Given the description of an element on the screen output the (x, y) to click on. 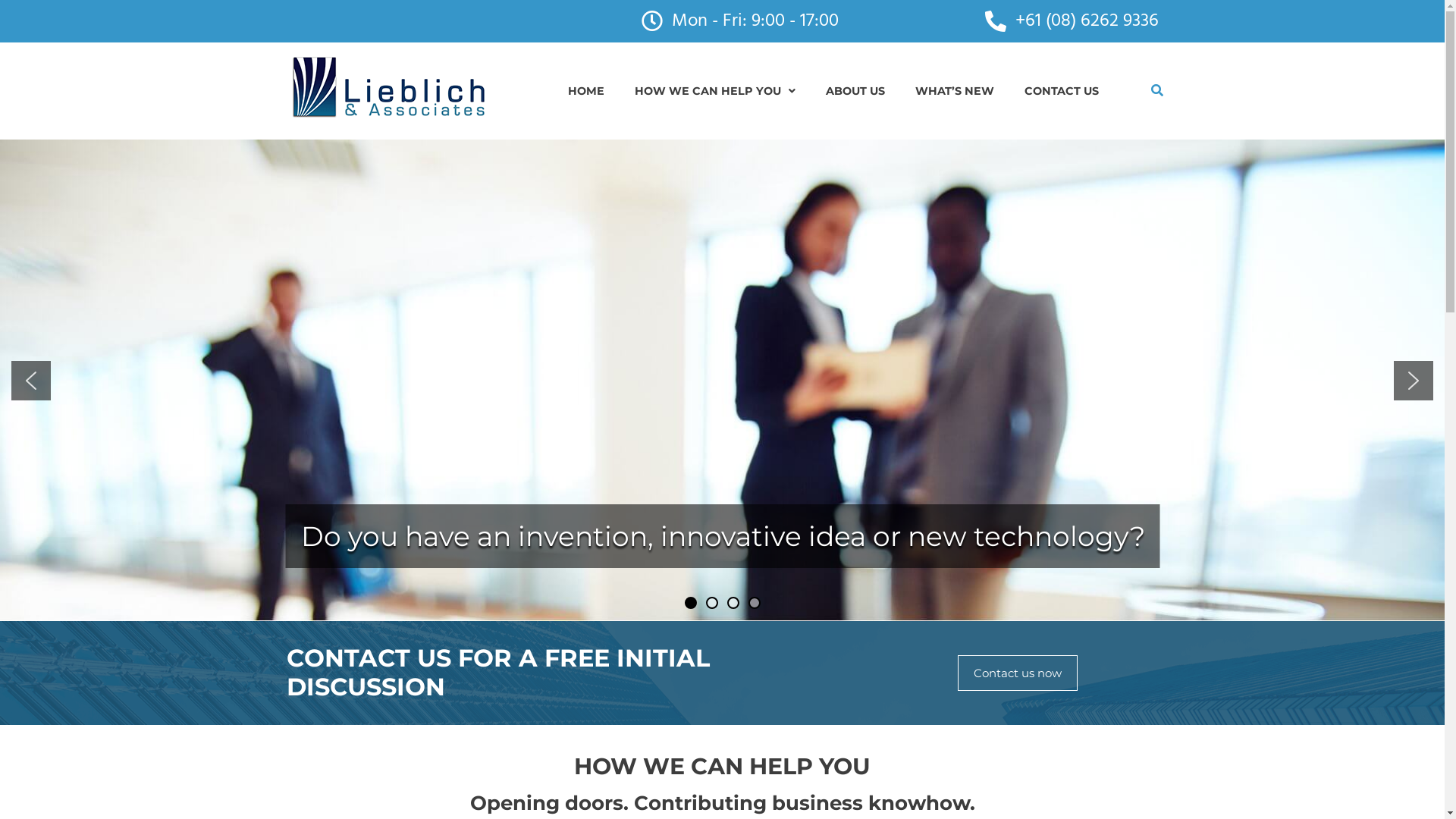
Search Element type: text (1157, 90)
Do you have an invention, innovative idea or new technology? Element type: text (722, 535)
+61 (08) 6262 9336 Element type: text (1070, 20)
HOME Element type: text (585, 90)
HOW WE CAN HELP YOU Element type: text (714, 90)
Contact us now Element type: text (1017, 672)
CONTACT US Element type: text (1061, 90)
ABOUT US Element type: text (855, 90)
